Given the description of an element on the screen output the (x, y) to click on. 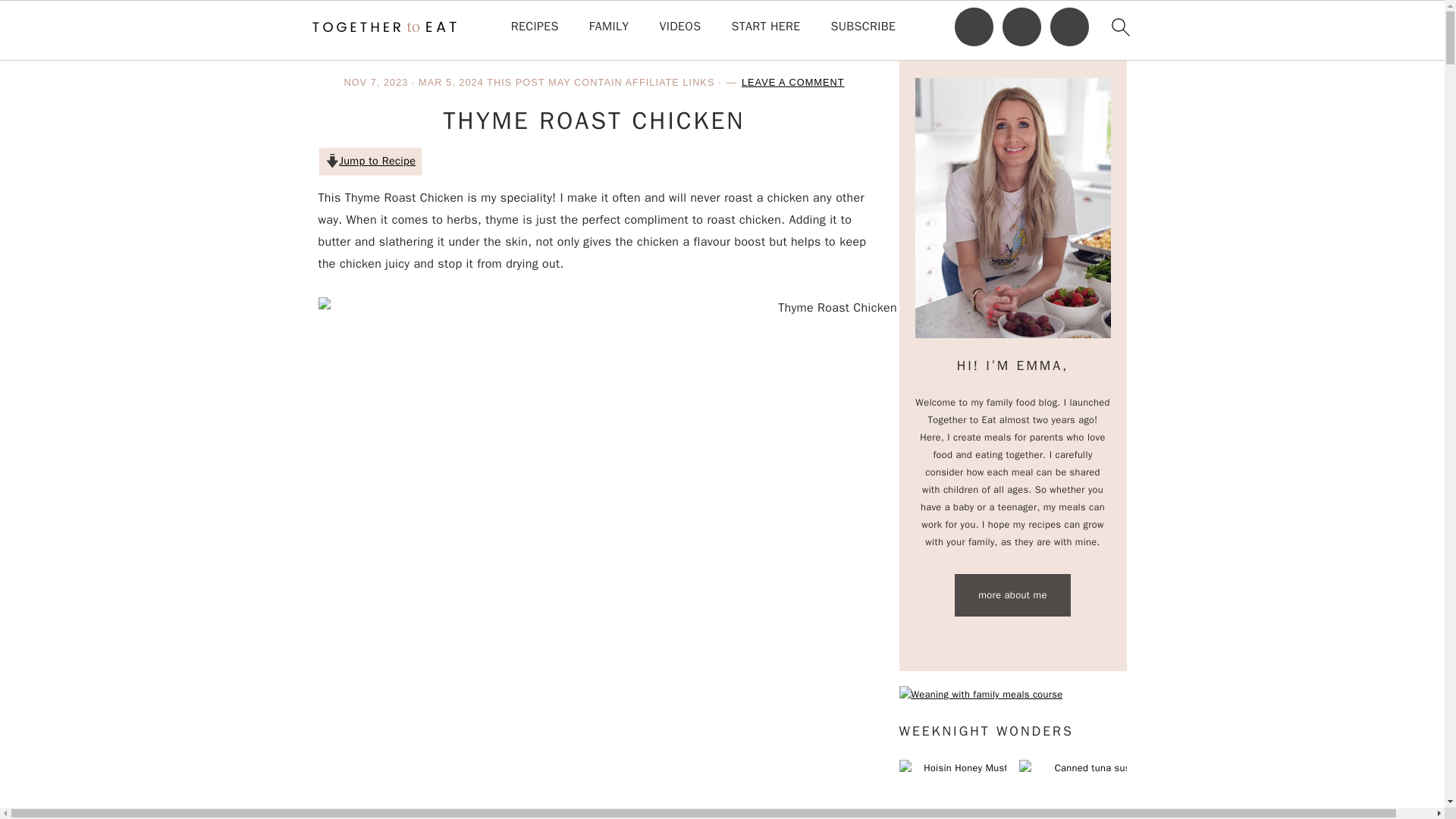
FAMILY (608, 26)
SUBSCRIBE (863, 26)
START HERE (764, 26)
search icon (1119, 26)
VIDEOS (679, 26)
RECIPES (535, 26)
